Given the description of an element on the screen output the (x, y) to click on. 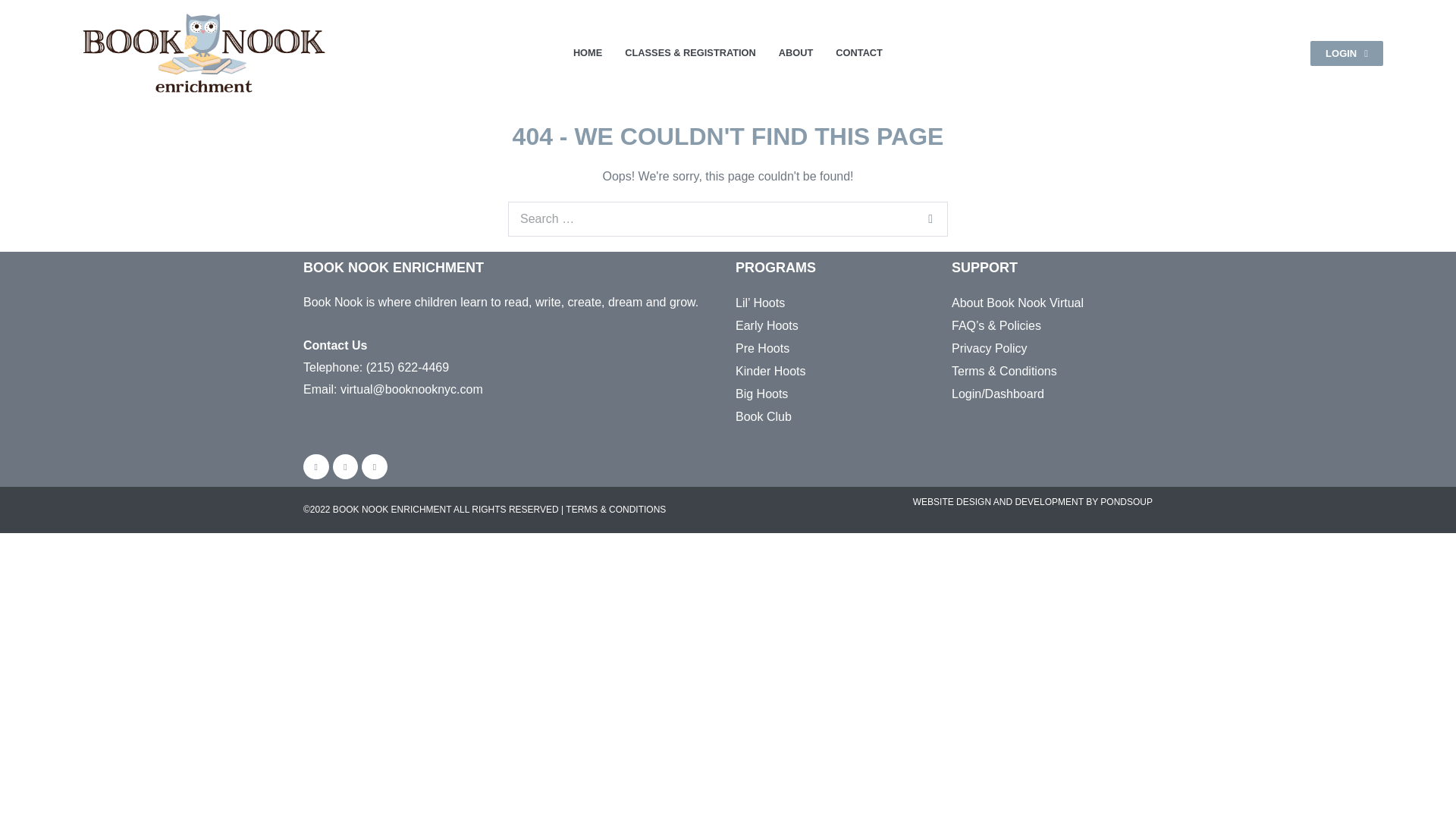
Early Hoots (814, 325)
Big Hoots (814, 394)
Kinder Hoots (814, 371)
HOME (587, 52)
Press enter to search (727, 218)
Pre Hoots (814, 348)
CONTACT (858, 52)
ABOUT (795, 52)
LOGIN (1346, 53)
